Given the description of an element on the screen output the (x, y) to click on. 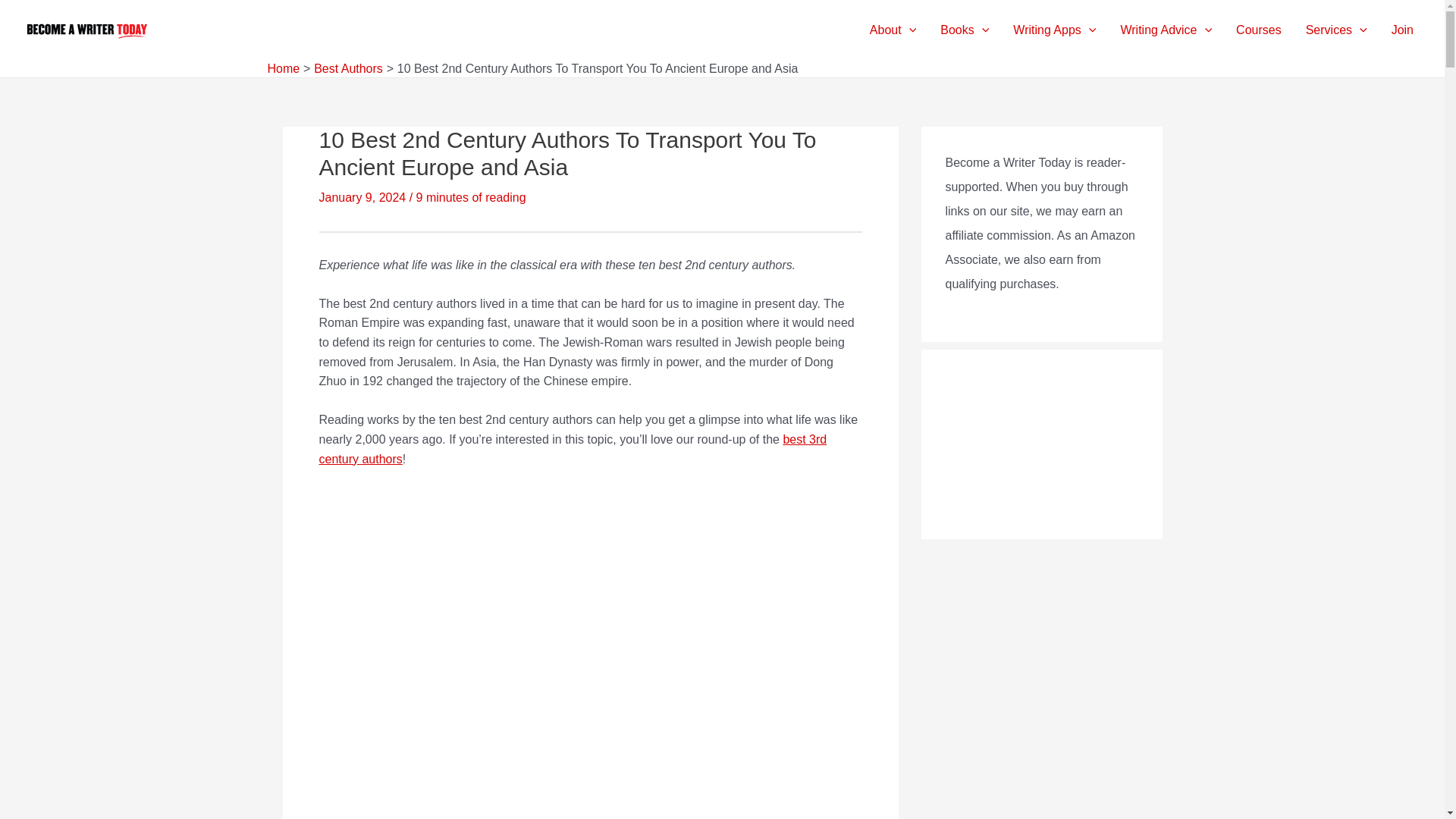
Services (1336, 30)
Books (964, 30)
Writing Apps (1054, 30)
Courses (1259, 30)
Best Authors (348, 68)
About (892, 30)
Writing Advice (1166, 30)
Home (282, 68)
